Given the description of an element on the screen output the (x, y) to click on. 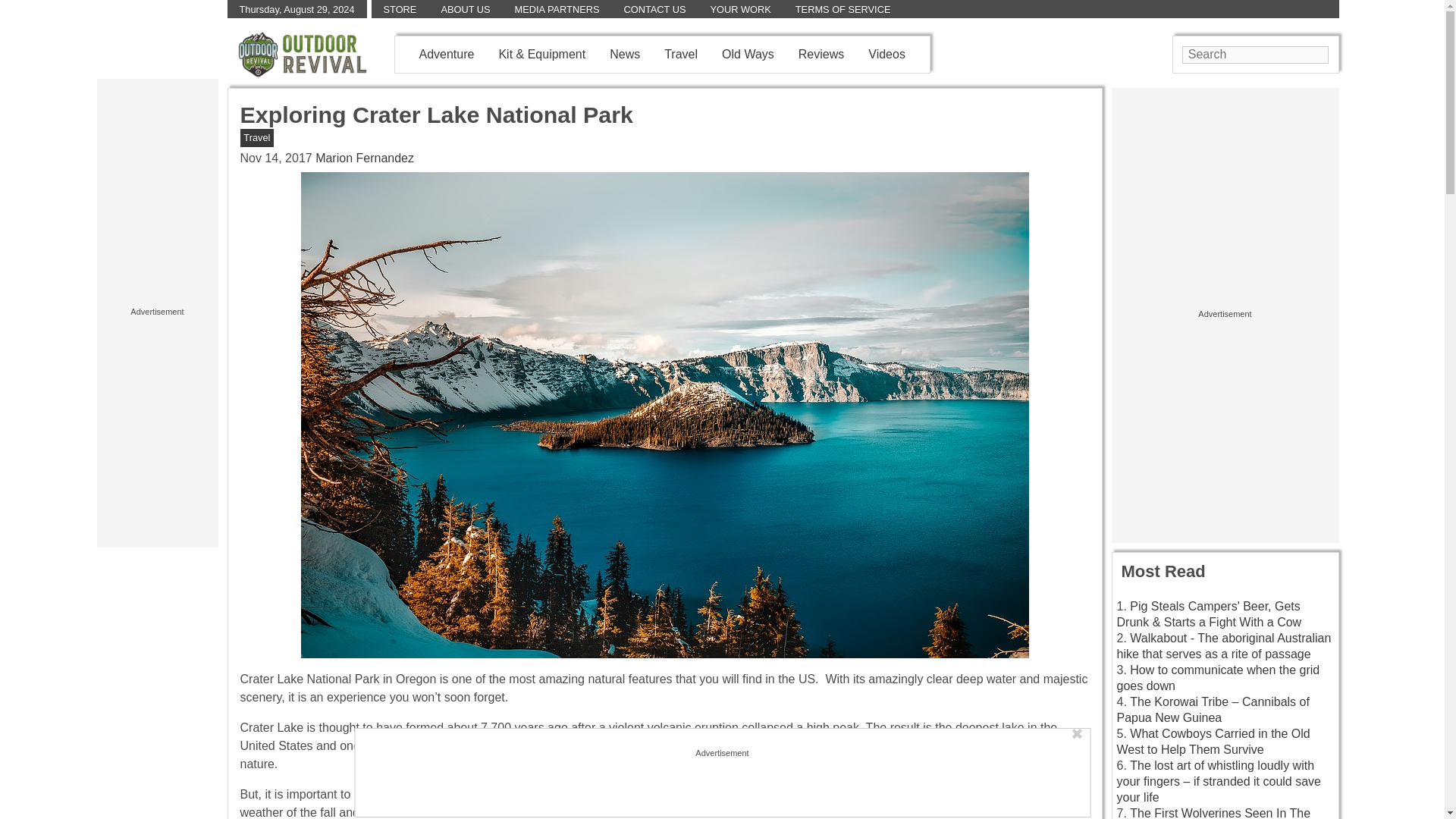
What Cowboys Carried in the Old West to Help Them Survive (1212, 741)
News (625, 53)
TERMS OF SERVICE (842, 9)
Videos (886, 53)
YOUR WORK (740, 9)
Marion Fernandez (364, 157)
CONTACT US (654, 9)
ABOUT US (465, 9)
MEDIA PARTNERS (557, 9)
